Given the description of an element on the screen output the (x, y) to click on. 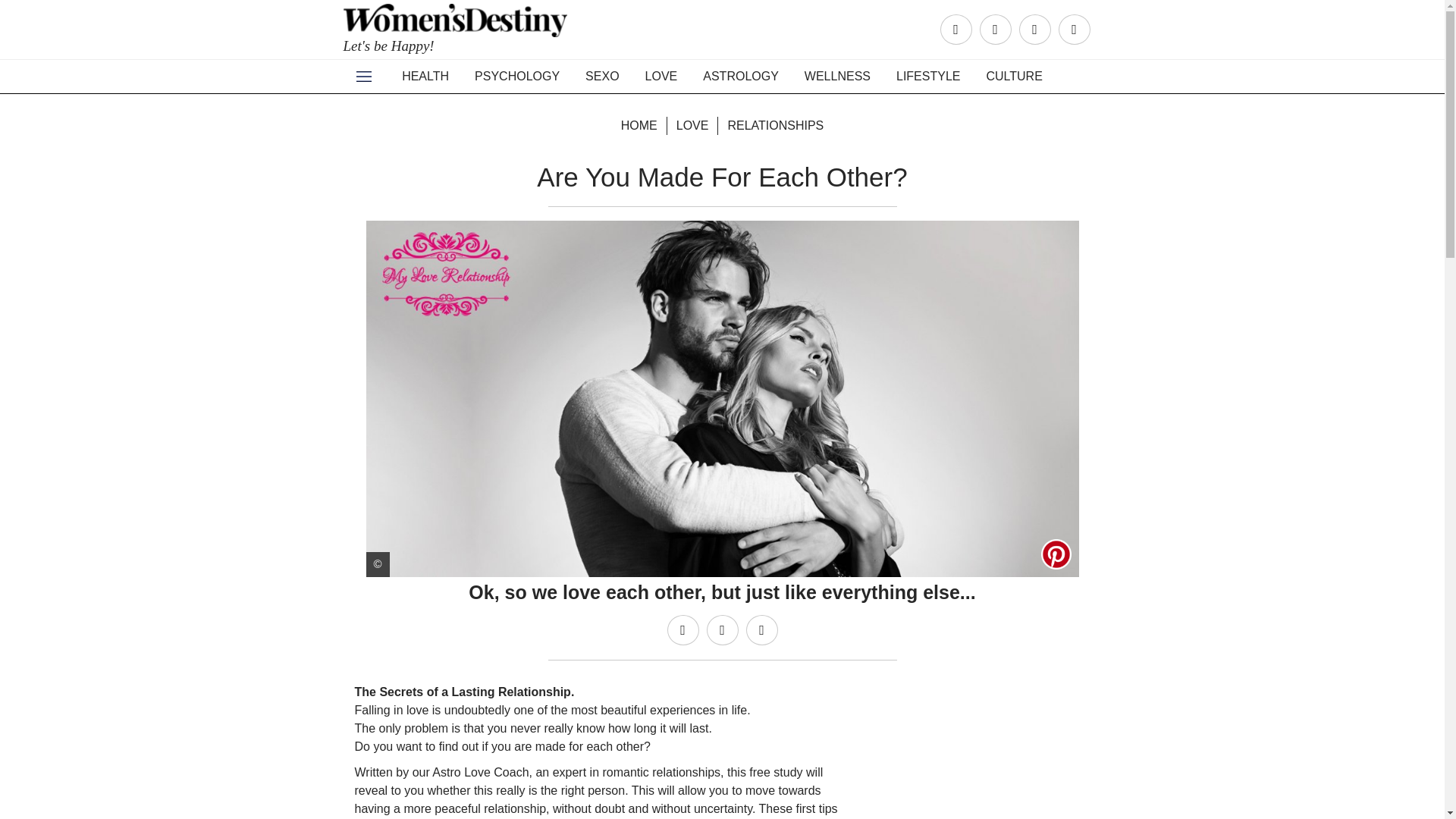
HEALTH (424, 76)
ASTROLOGY (740, 76)
PSYCHOLOGY (516, 76)
PSYCHOLOGY (516, 76)
SEXO (601, 76)
SEXO (601, 76)
HEALTH (424, 76)
LOVE (661, 76)
Let's be Happy! (456, 34)
